Given the description of an element on the screen output the (x, y) to click on. 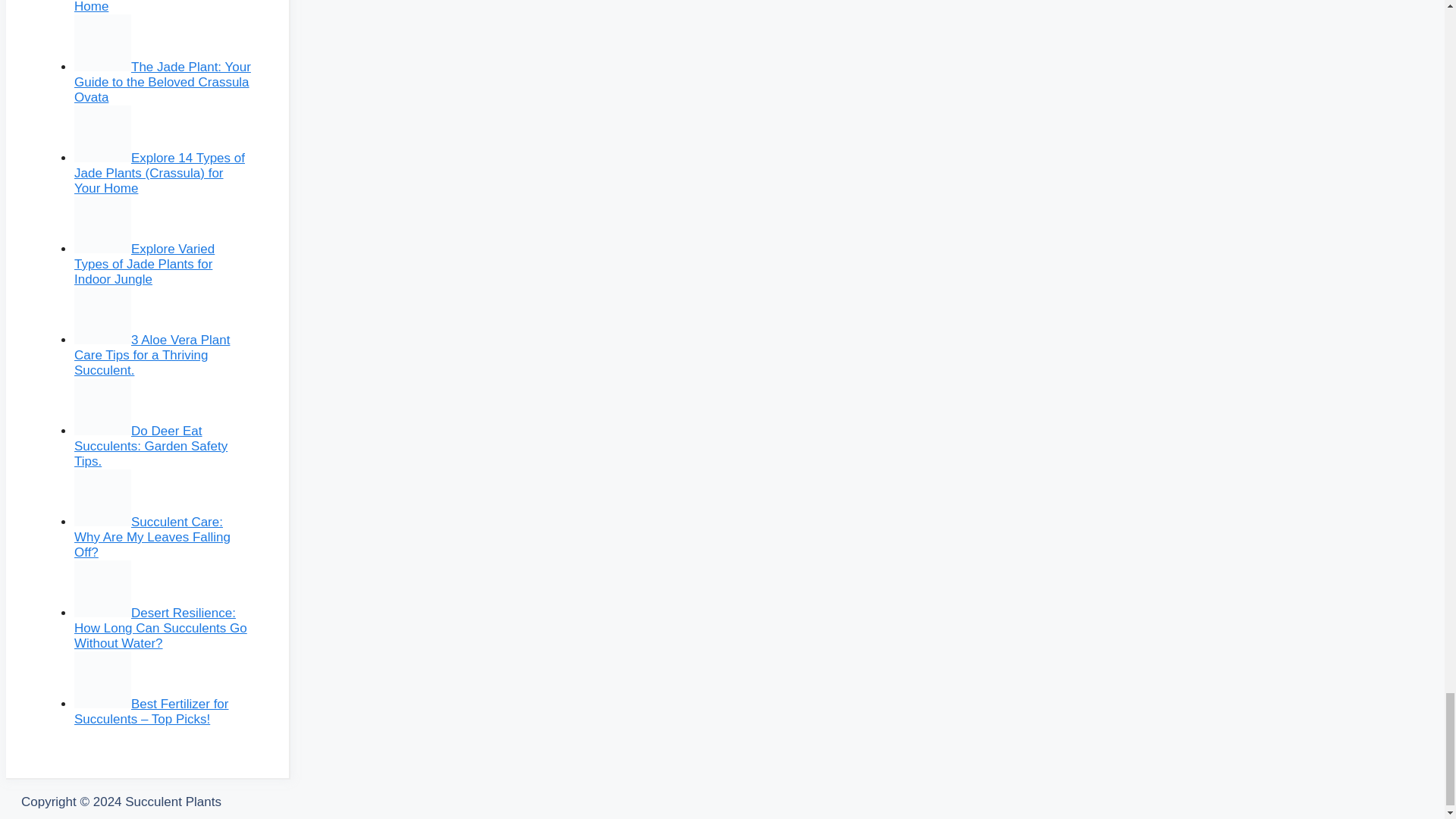
Desert Resilience: How Long Can Succulents Go Without Water? (160, 628)
Succulent Care: Why Are My Leaves Falling Off? (152, 537)
3 Aloe Vera Plant Care Tips for a Thriving Succulent. (152, 354)
Do Deer Eat Succulents: Garden Safety Tips. (150, 446)
The Jade Plant: Your Guide to the Beloved Crassula Ovata (162, 81)
Explore Varied Types of Jade Plants for Indoor Jungle (144, 263)
